Given the description of an element on the screen output the (x, y) to click on. 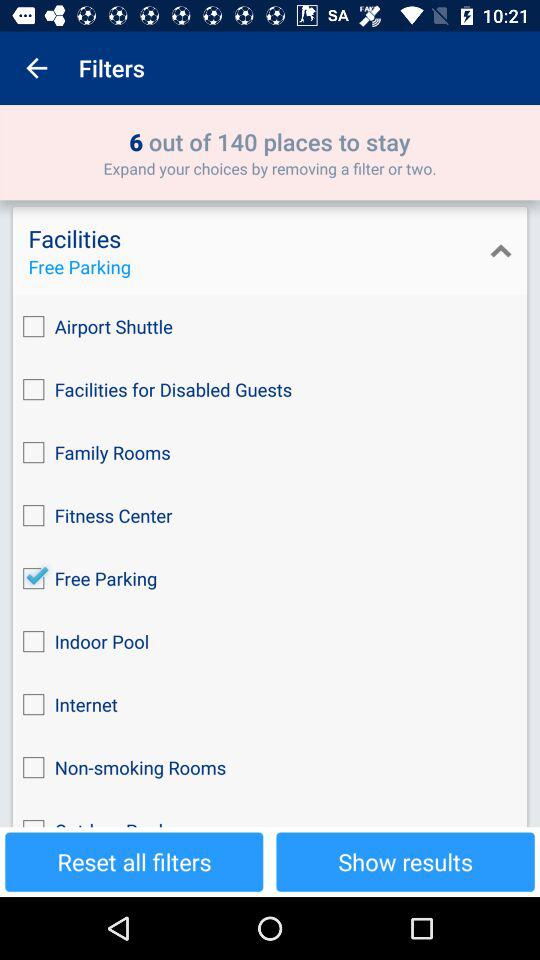
click the icon below the facilities for disabled item (269, 452)
